Given the description of an element on the screen output the (x, y) to click on. 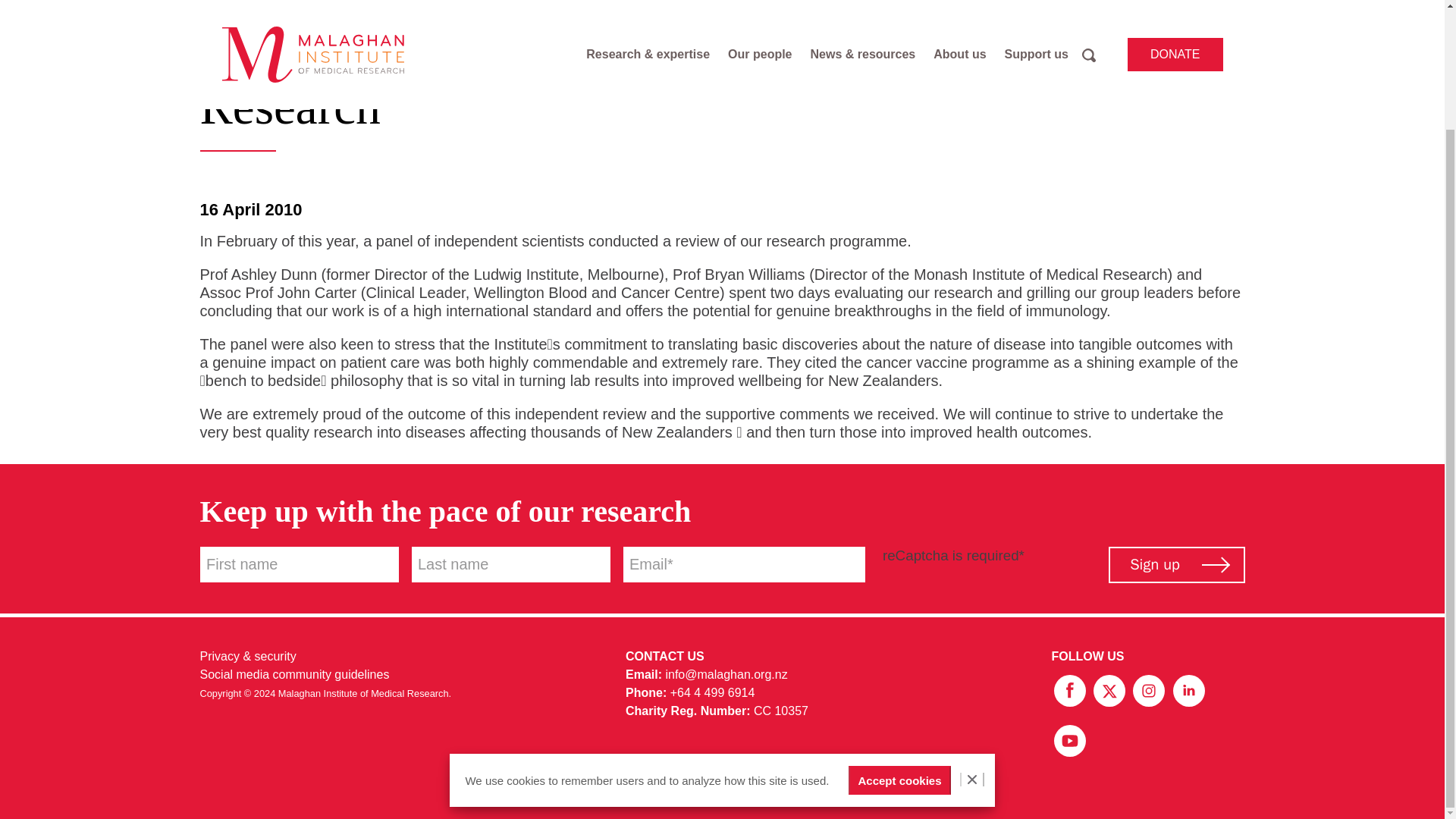
Facebook (1070, 689)
X (1110, 689)
Accept cookies (899, 637)
Instagram (1150, 689)
LinkedIn (1188, 689)
YouTube (1069, 739)
